Given the description of an element on the screen output the (x, y) to click on. 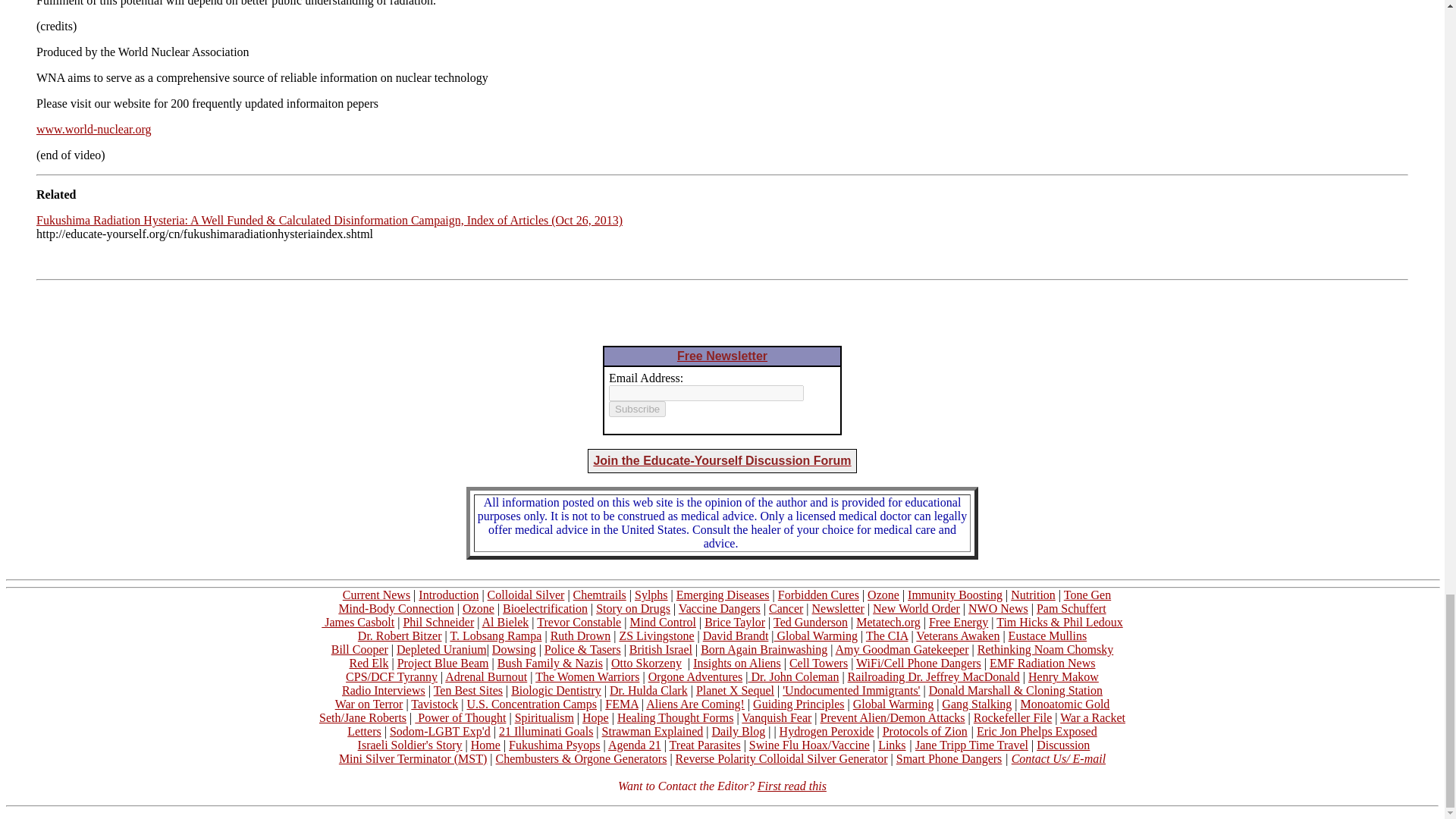
Subscribe (636, 408)
